Given the description of an element on the screen output the (x, y) to click on. 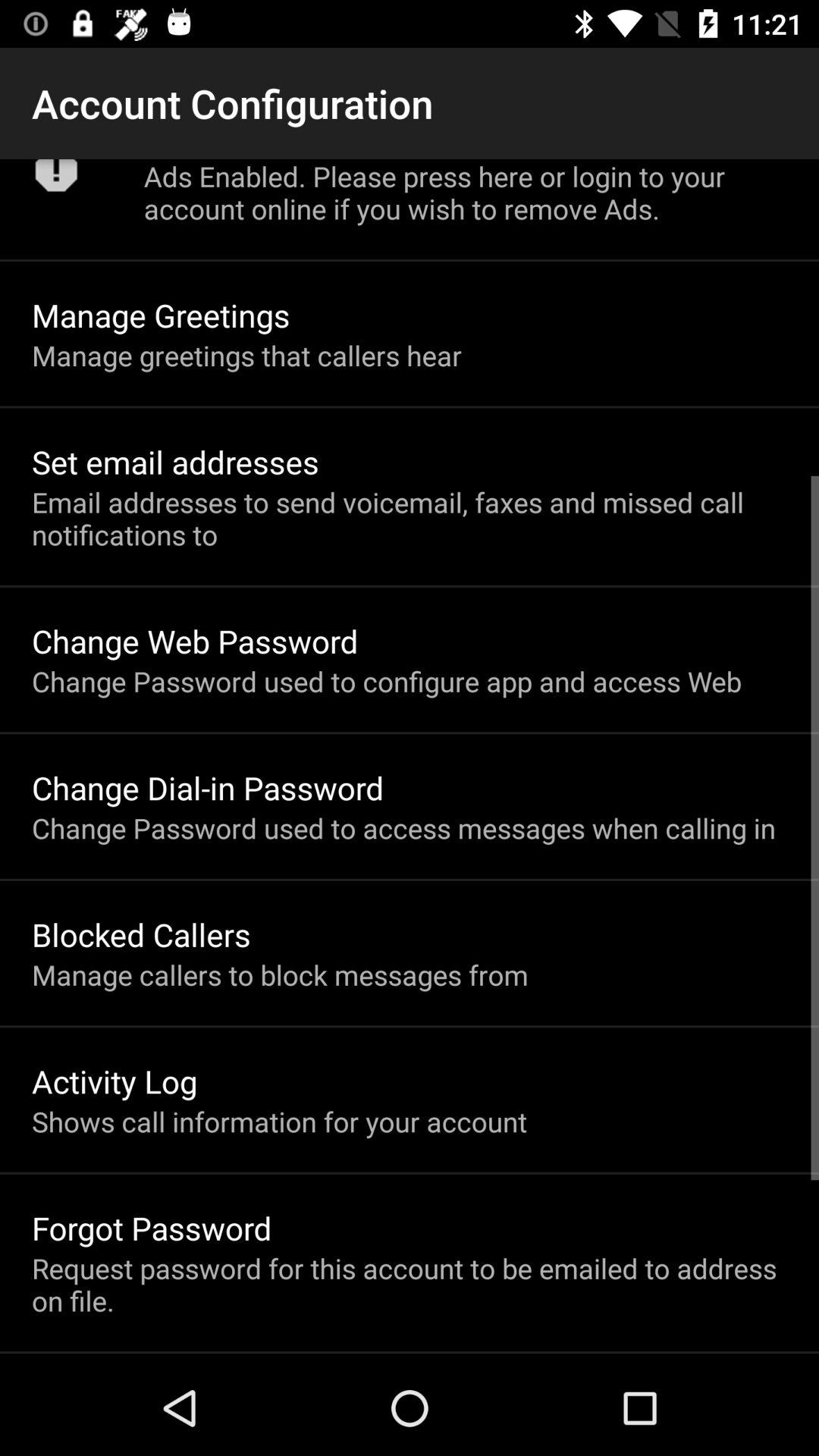
swipe to ads enabled please (465, 193)
